Given the description of an element on the screen output the (x, y) to click on. 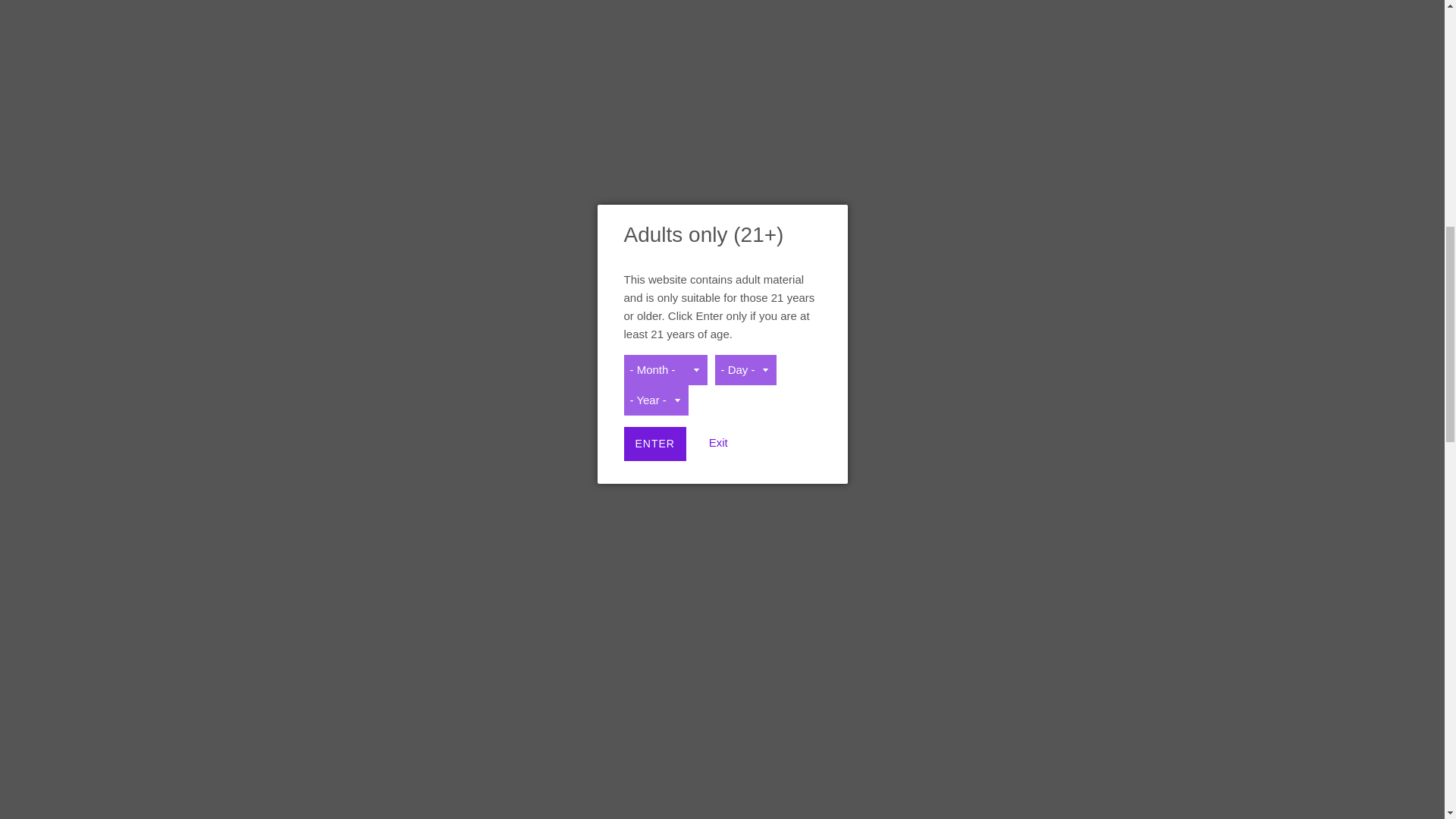
DabHali Mini Rugs (342, 10)
Frito Glass (342, 385)
Dank Woodworks (342, 40)
Dunkin Dabbers (342, 193)
Firefly Glass (342, 309)
Dippy Glass (342, 79)
Fluid Glass (342, 347)
Dirty Rico Glass (342, 117)
Fatboy Glass (342, 271)
Djinn Glass (342, 156)
Elbo Glass Supply Co (342, 232)
